Given the description of an element on the screen output the (x, y) to click on. 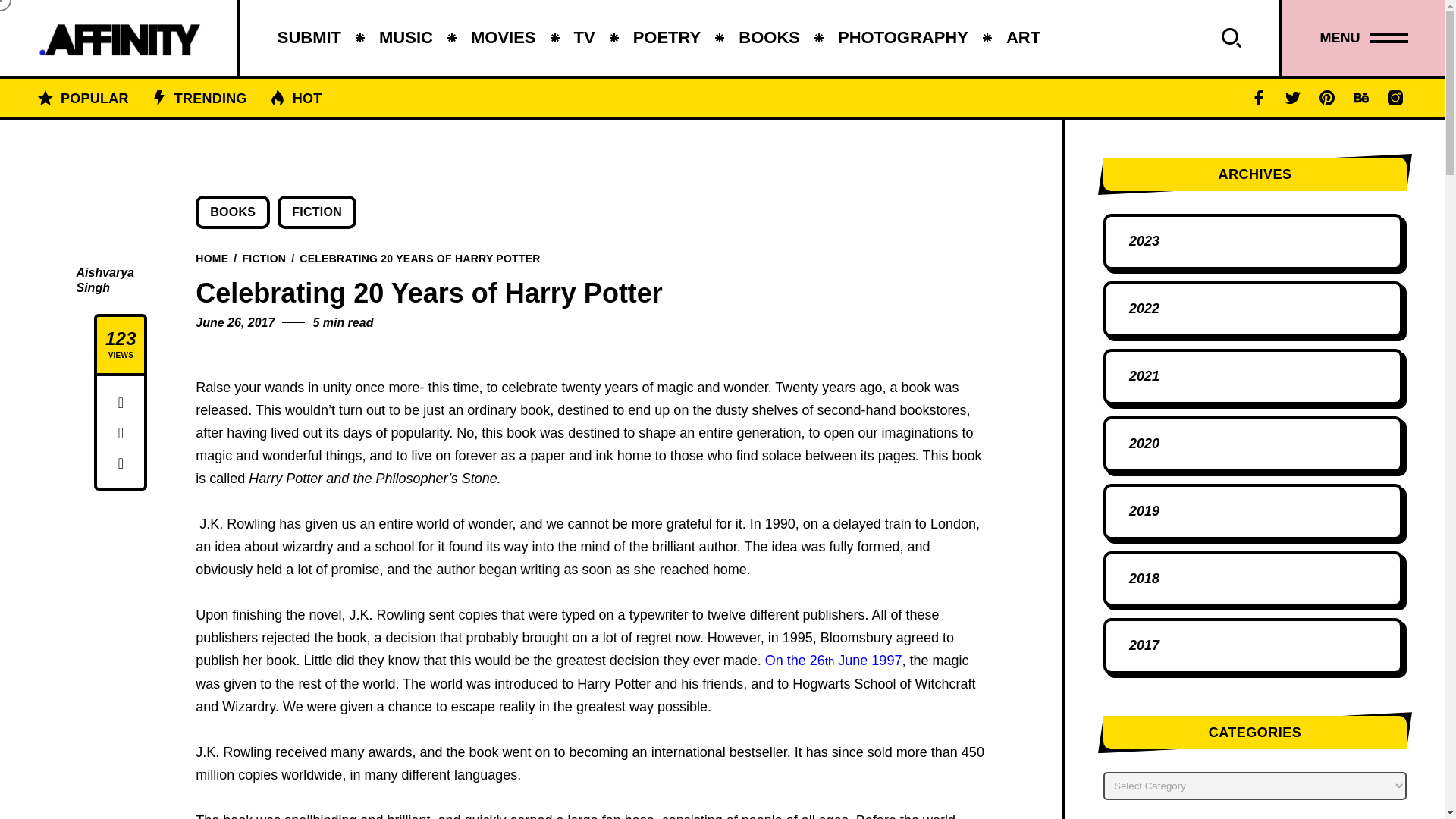
ART (1023, 38)
MOVIES (502, 38)
POETRY (667, 38)
123 (120, 339)
POPULAR (94, 97)
BOOKS (768, 38)
Home (211, 257)
SUBMIT (309, 38)
Celebrating 20 Years of Harry Potter (419, 257)
MUSIC (405, 38)
PHOTOGRAPHY (902, 38)
